Given the description of an element on the screen output the (x, y) to click on. 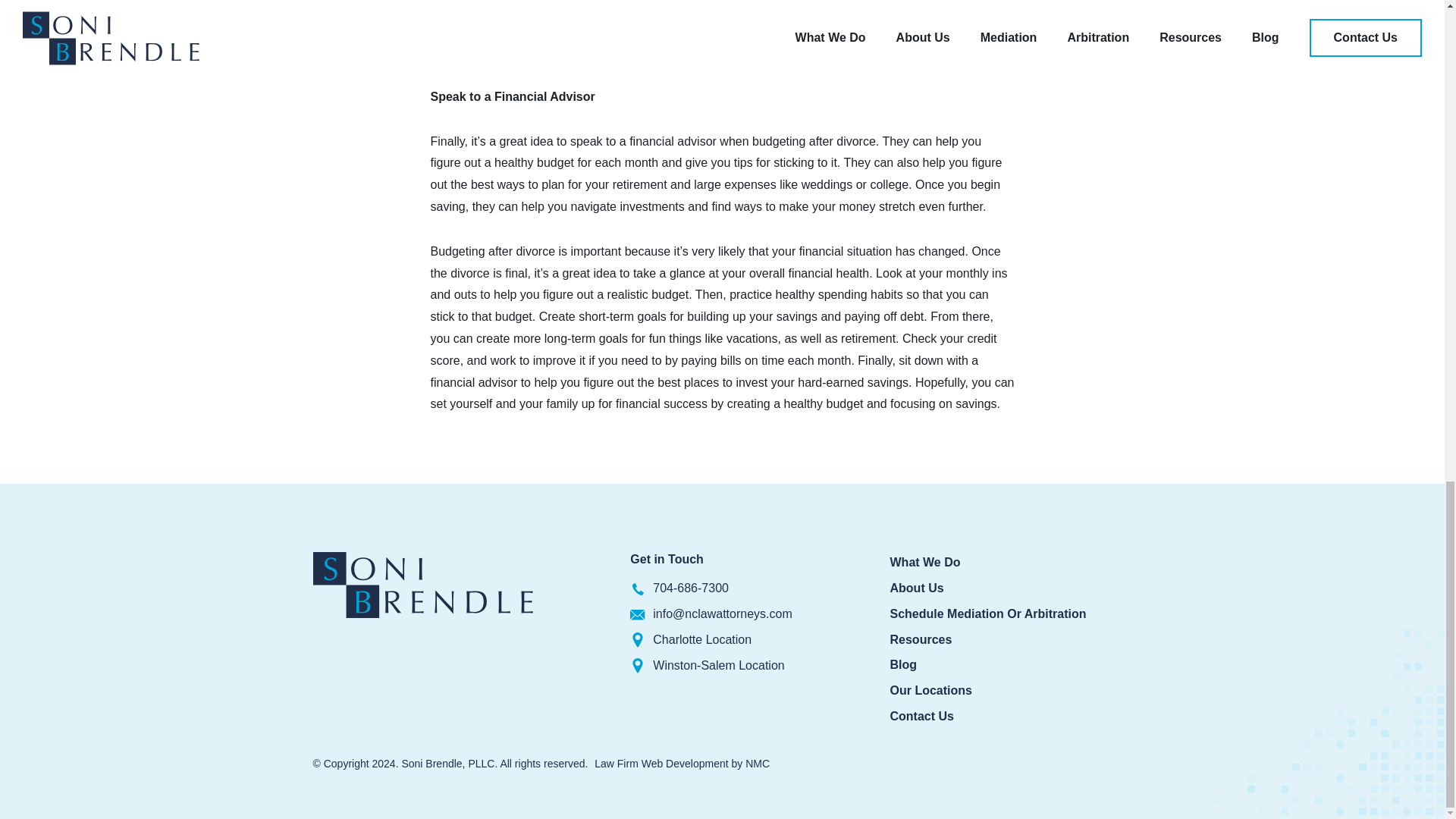
704-686-7300 (690, 588)
Schedule Mediation Or Arbitration (987, 613)
Law Firm Web Development (661, 763)
What We Do (924, 562)
Contact Us (921, 716)
Our Locations (930, 689)
Charlotte Location (701, 640)
Resources (920, 639)
Blog (903, 664)
Winston-Salem Location (718, 666)
